Given the description of an element on the screen output the (x, y) to click on. 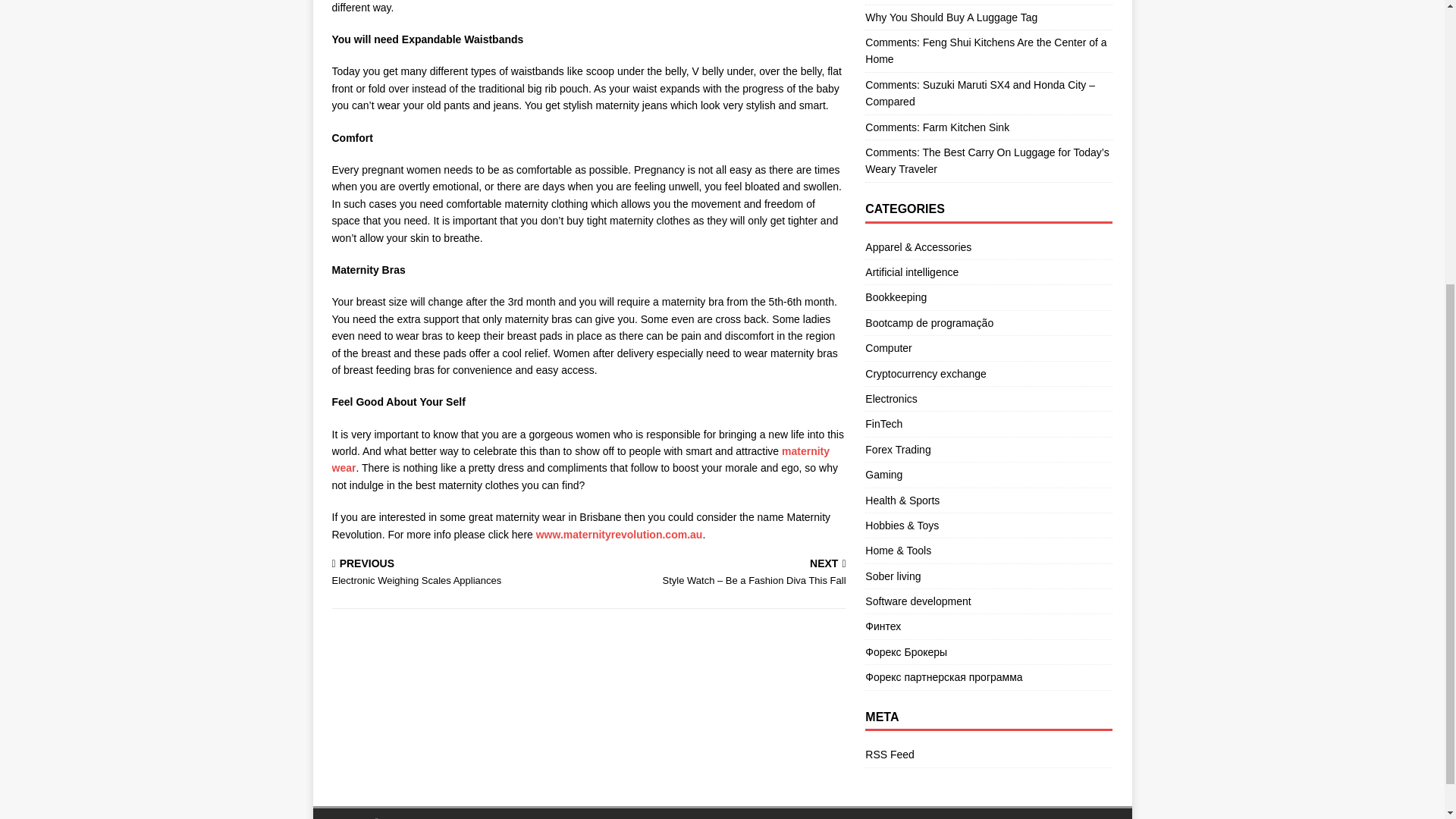
Why You Should Buy A Luggage Tag (950, 17)
Comments: Farm Kitchen Sink (936, 127)
www.maternityrevolution.com.au (619, 534)
maternity wear (580, 459)
Electronics (988, 398)
FinTech (988, 423)
Bookkeeping (457, 572)
Computer (988, 297)
Artificial intelligence (988, 347)
